Given the description of an element on the screen output the (x, y) to click on. 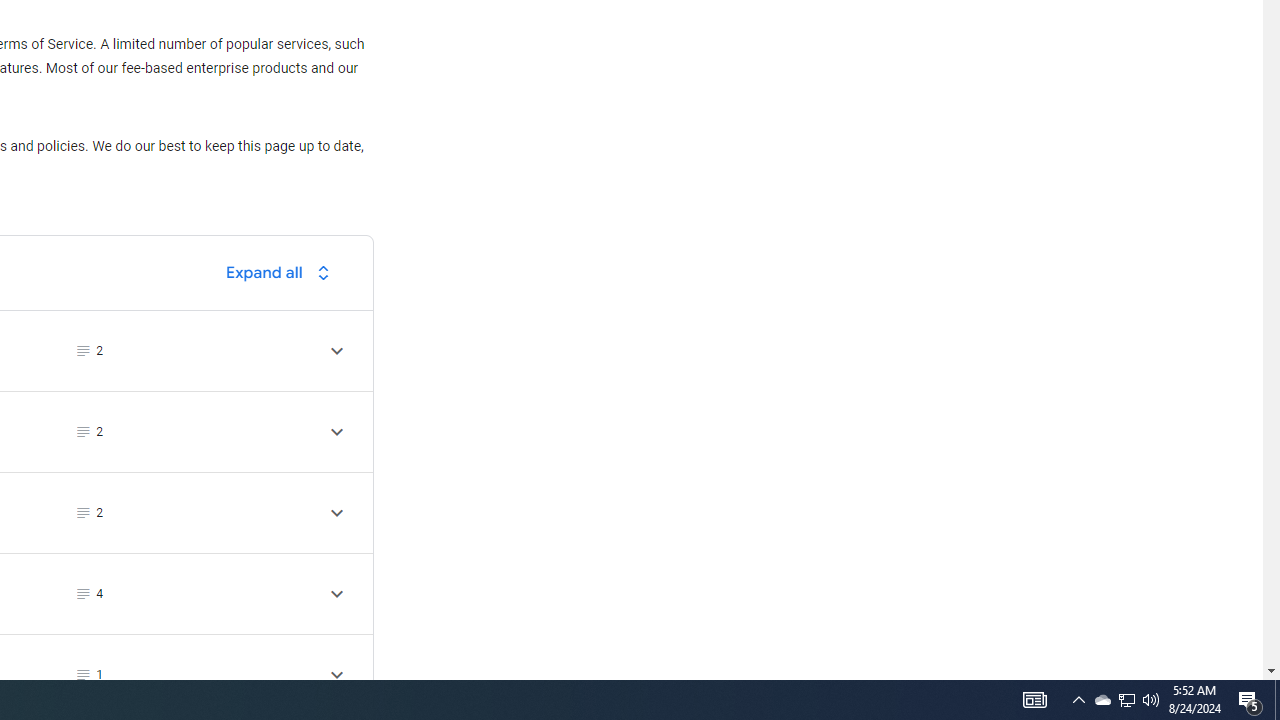
Expand all (283, 272)
